Given the description of an element on the screen output the (x, y) to click on. 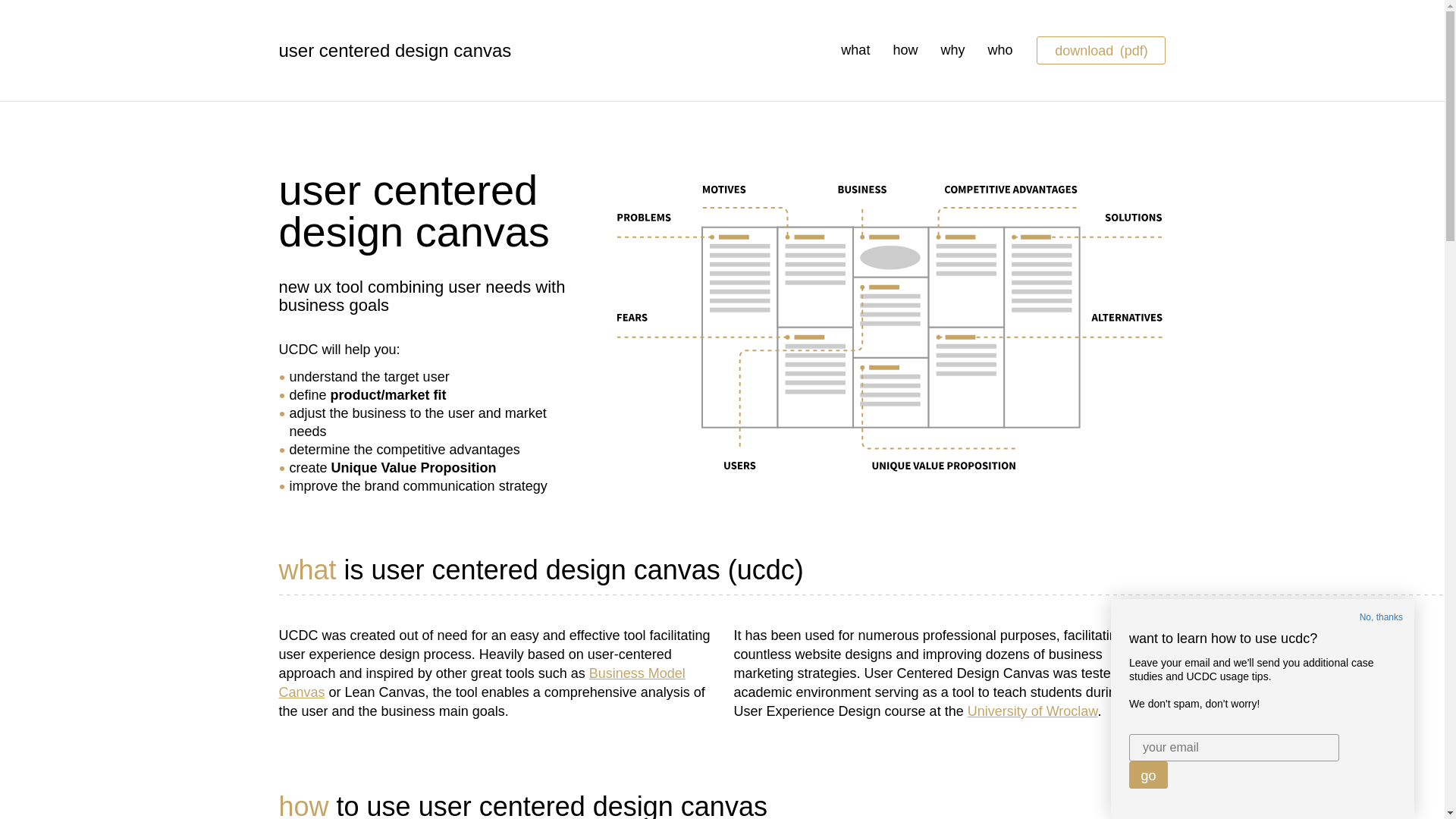
University of Wroclaw (1032, 711)
how (904, 50)
user centered design canvas (456, 50)
why (951, 50)
what (855, 50)
Business Model Canvas (482, 682)
who (999, 50)
